Given the description of an element on the screen output the (x, y) to click on. 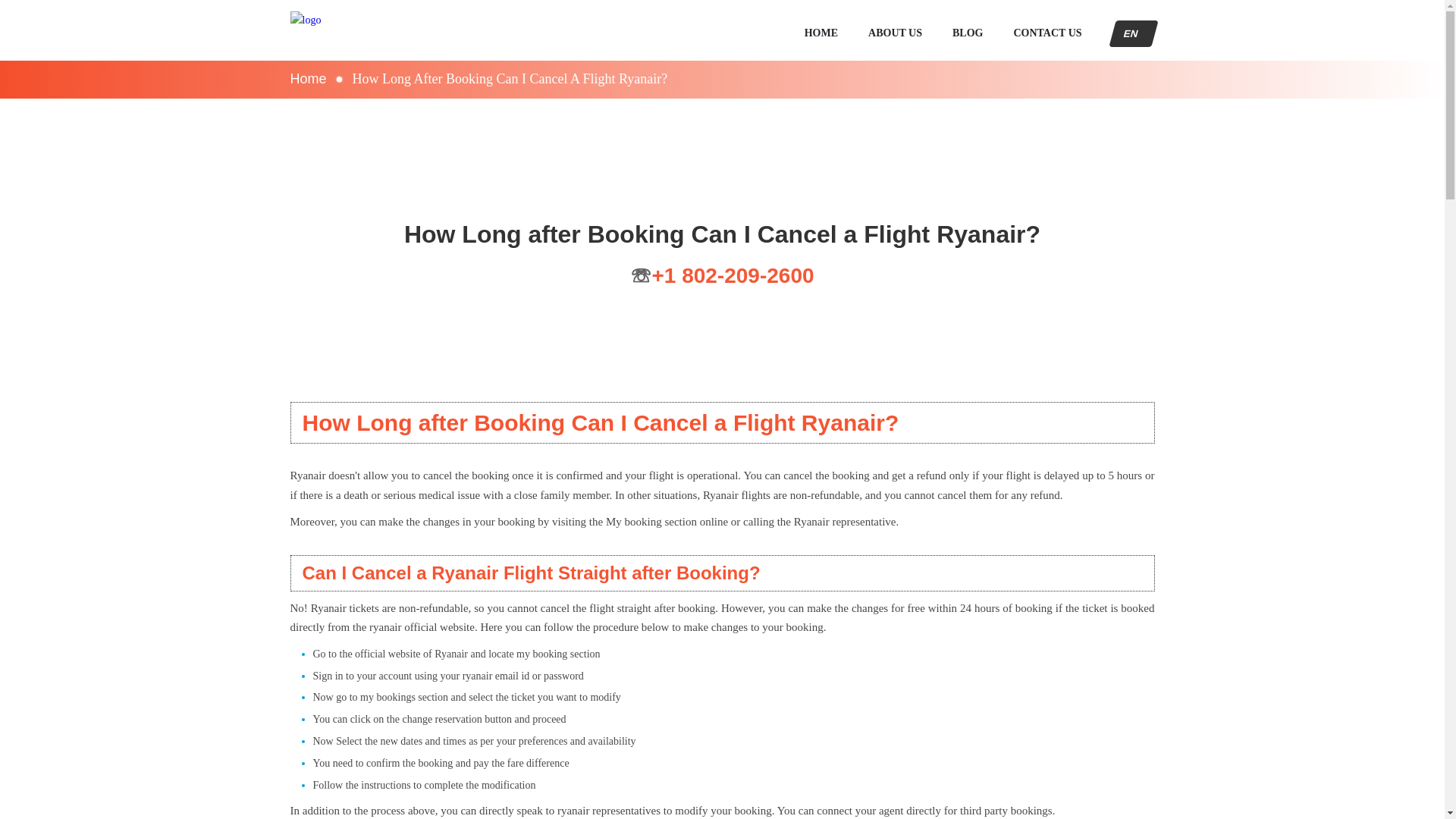
EN   (1129, 33)
Home (346, 30)
Home (307, 78)
BLOG (967, 32)
CONTACT US (1047, 32)
ABOUT US (894, 32)
HOME (821, 32)
